Given the description of an element on the screen output the (x, y) to click on. 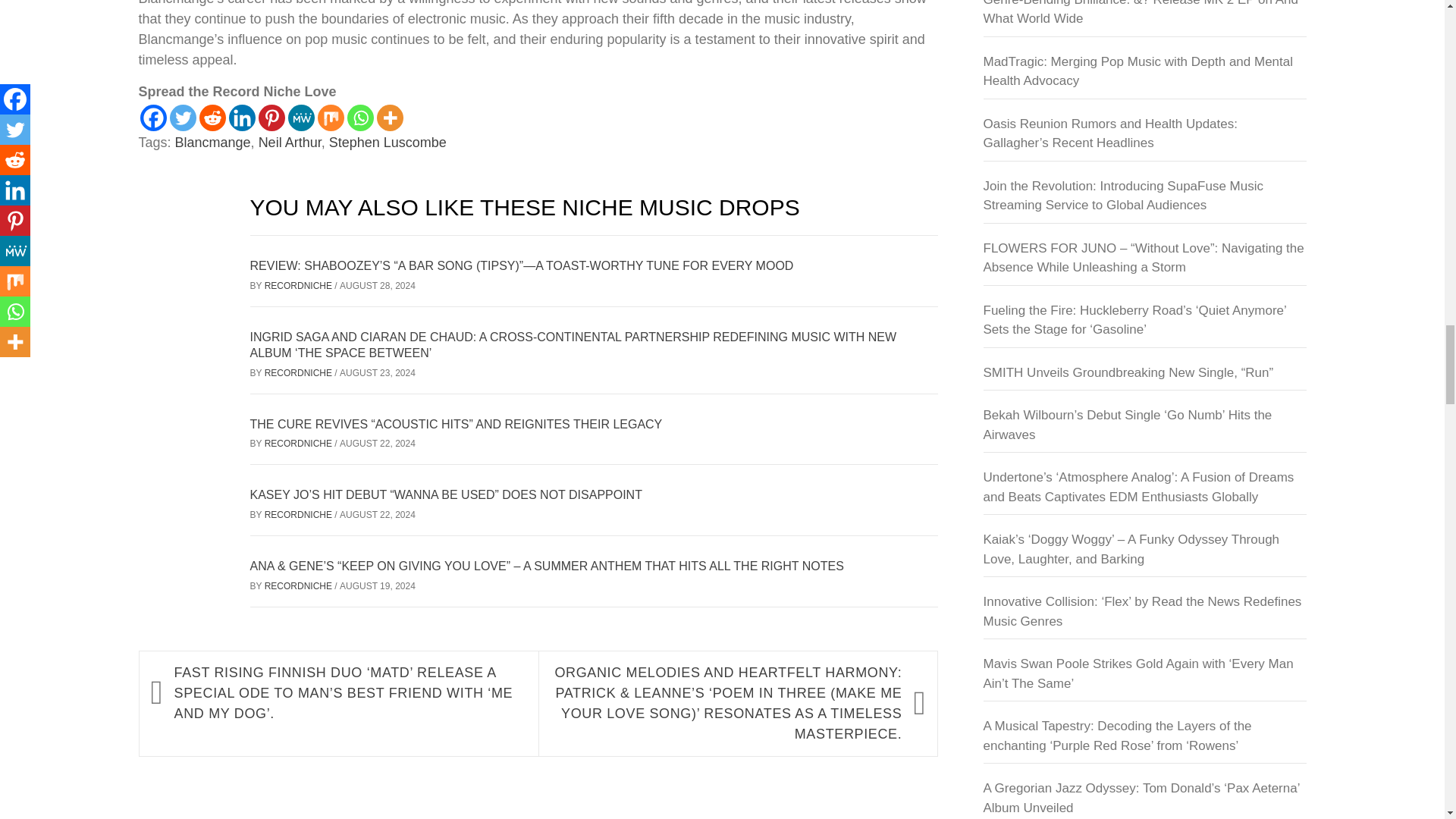
Stephen Luscombe (387, 142)
Pinterest (270, 117)
Whatsapp (360, 117)
Neil Arthur (290, 142)
Twitter (183, 117)
Mix (330, 117)
Blancmange (212, 142)
Reddit (211, 117)
Linkedin (242, 117)
More (389, 117)
